Given the description of an element on the screen output the (x, y) to click on. 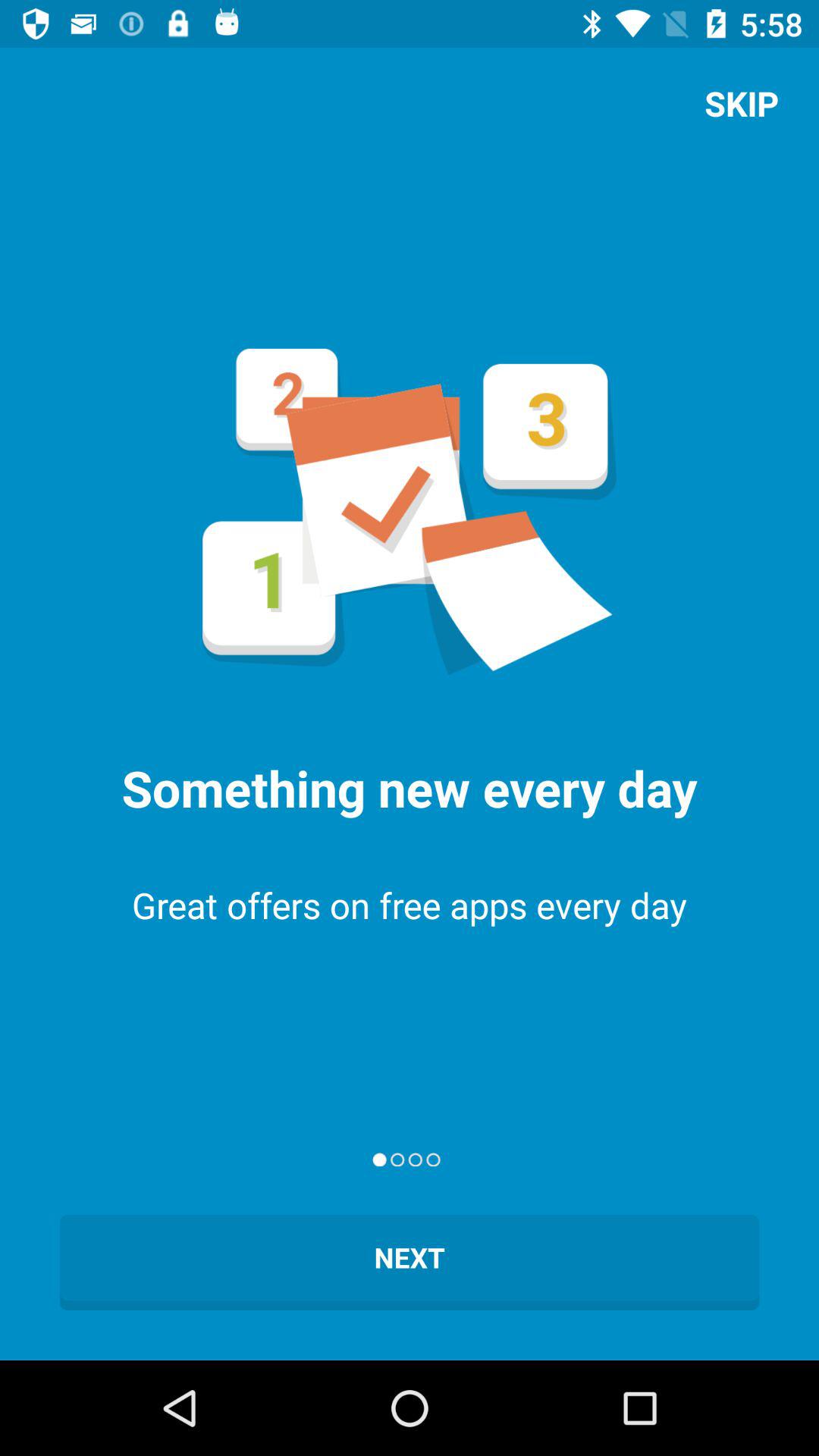
tap the item above the something new every app (741, 103)
